Given the description of an element on the screen output the (x, y) to click on. 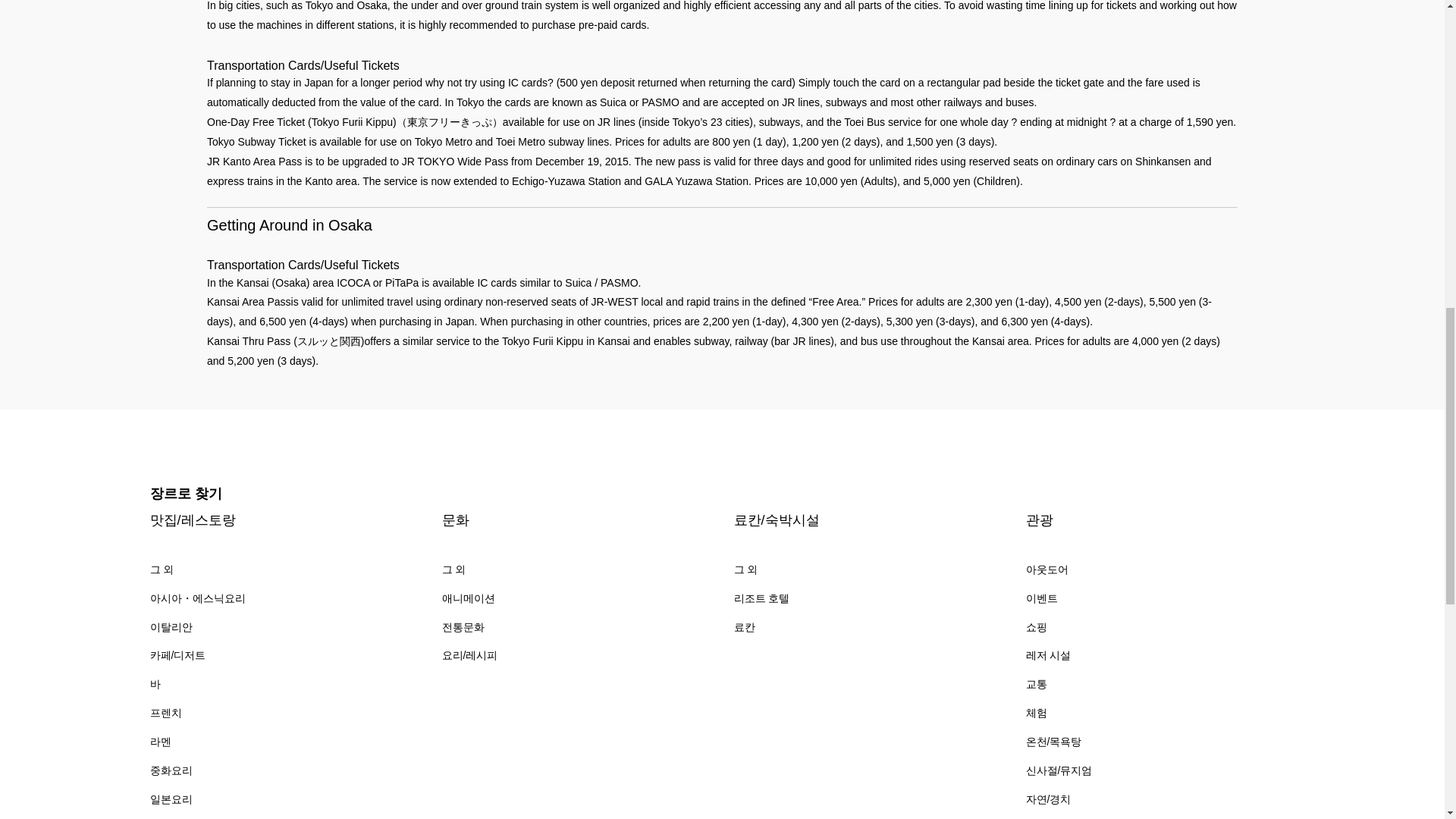
Kansai Area Pass (248, 302)
